Given the description of an element on the screen output the (x, y) to click on. 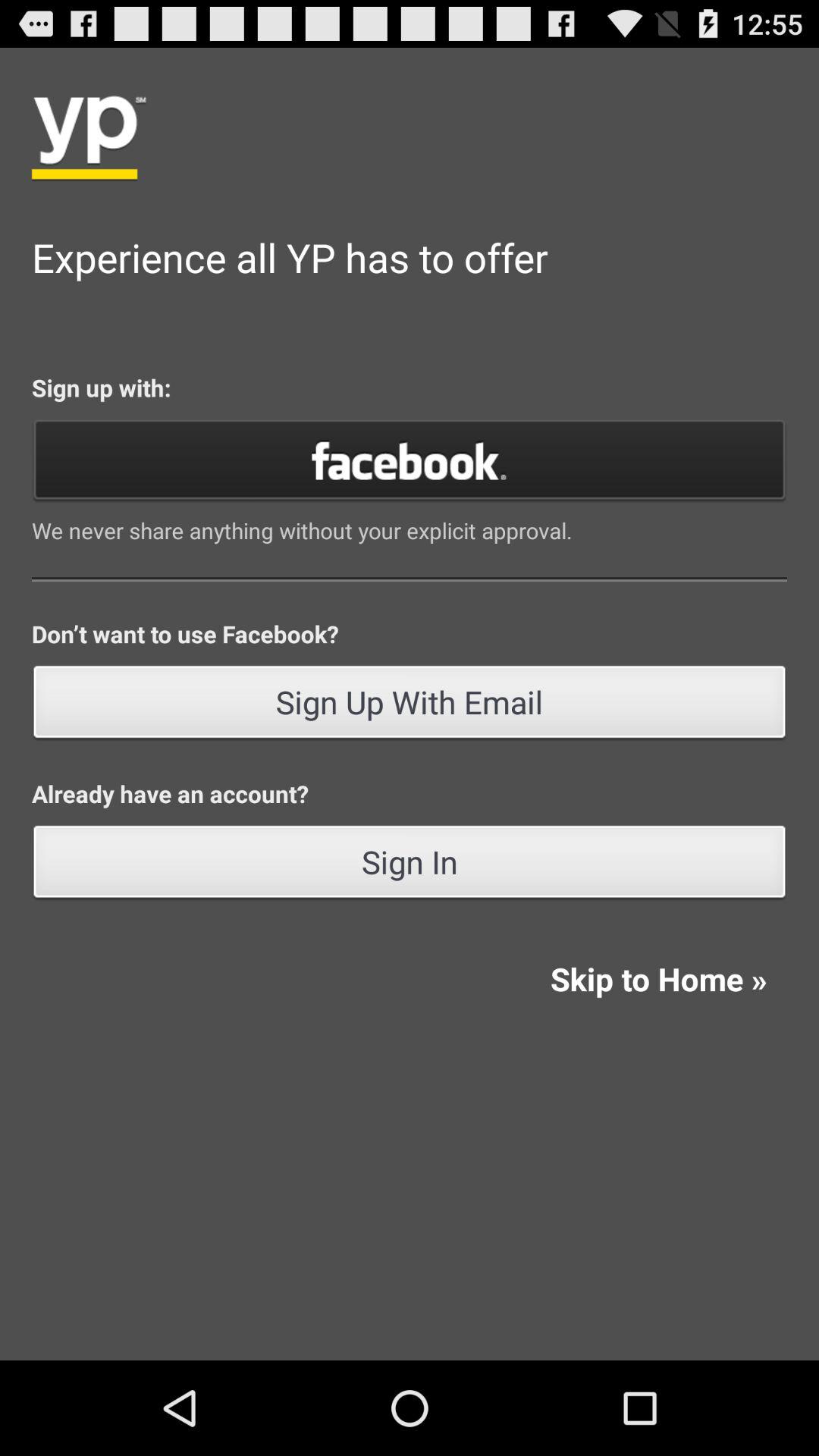
open item below the sign in item (658, 978)
